Given the description of an element on the screen output the (x, y) to click on. 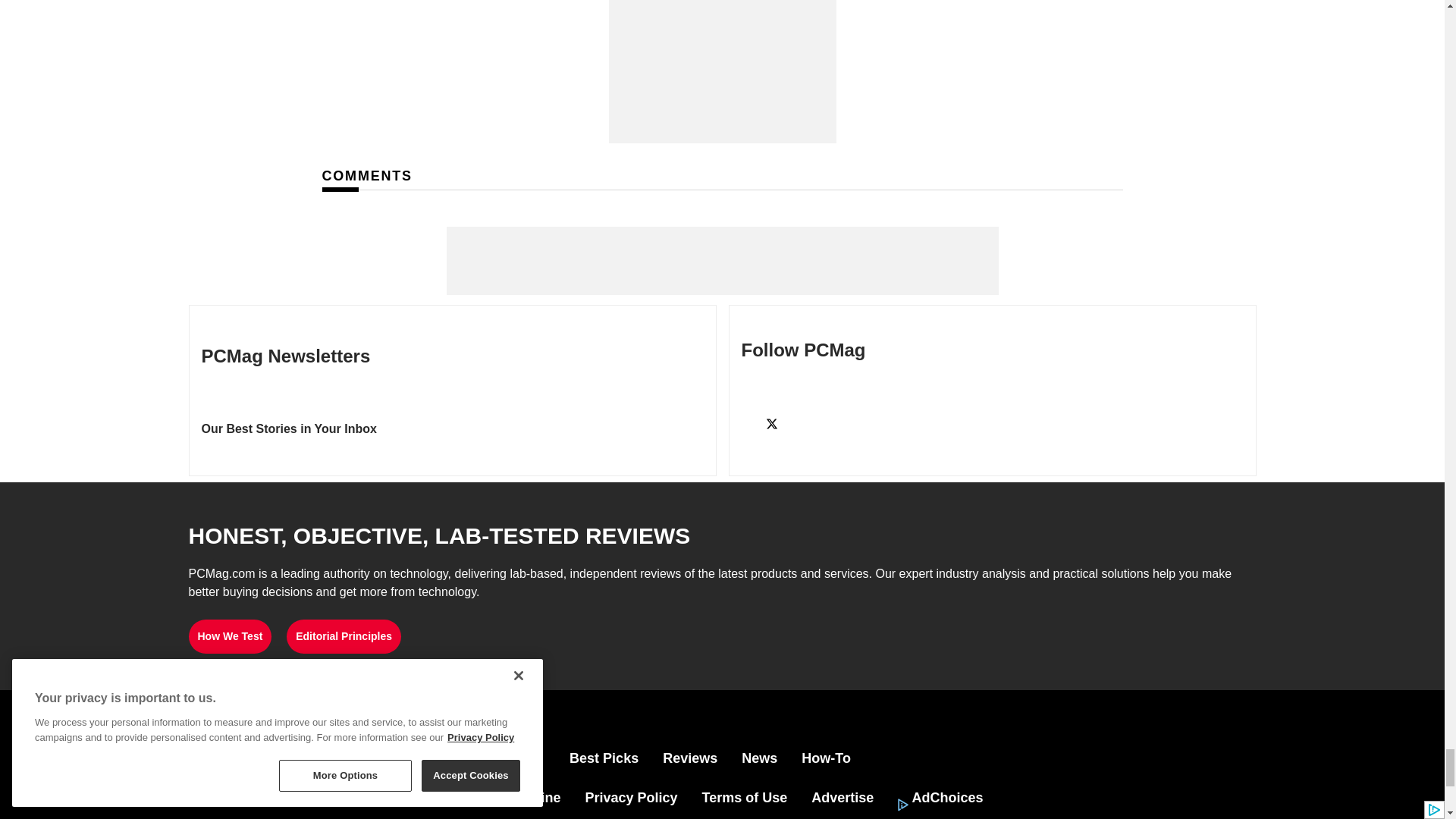
3rd party ad content (721, 260)
3rd party ad content (721, 71)
